Given the description of an element on the screen output the (x, y) to click on. 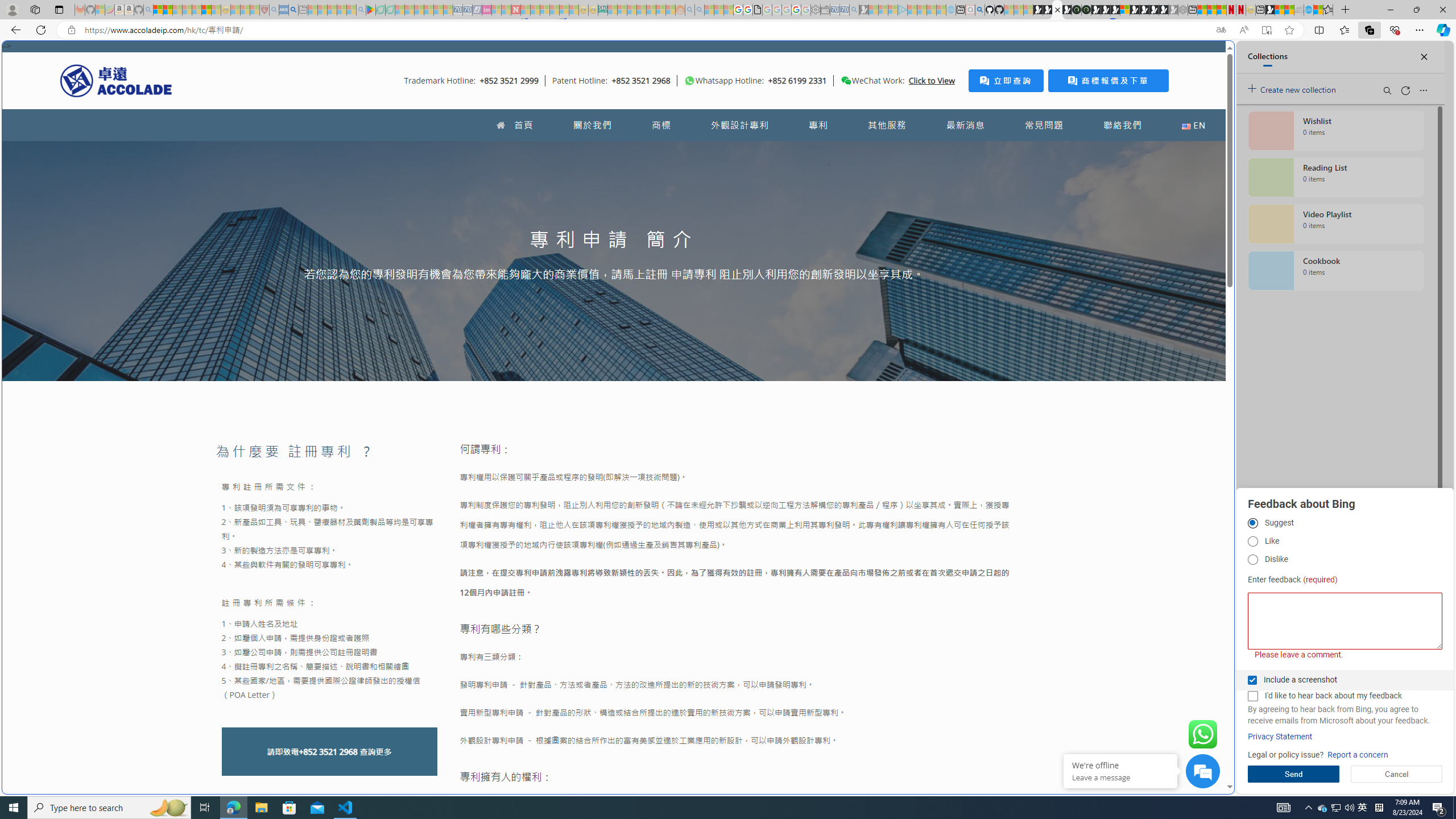
Services - Maintenance | Sky Blue Bikes - Sky Blue Bikes (1307, 9)
Wallet - Sleeping (824, 9)
Expert Portfolios - Sleeping (640, 9)
